Given the description of an element on the screen output the (x, y) to click on. 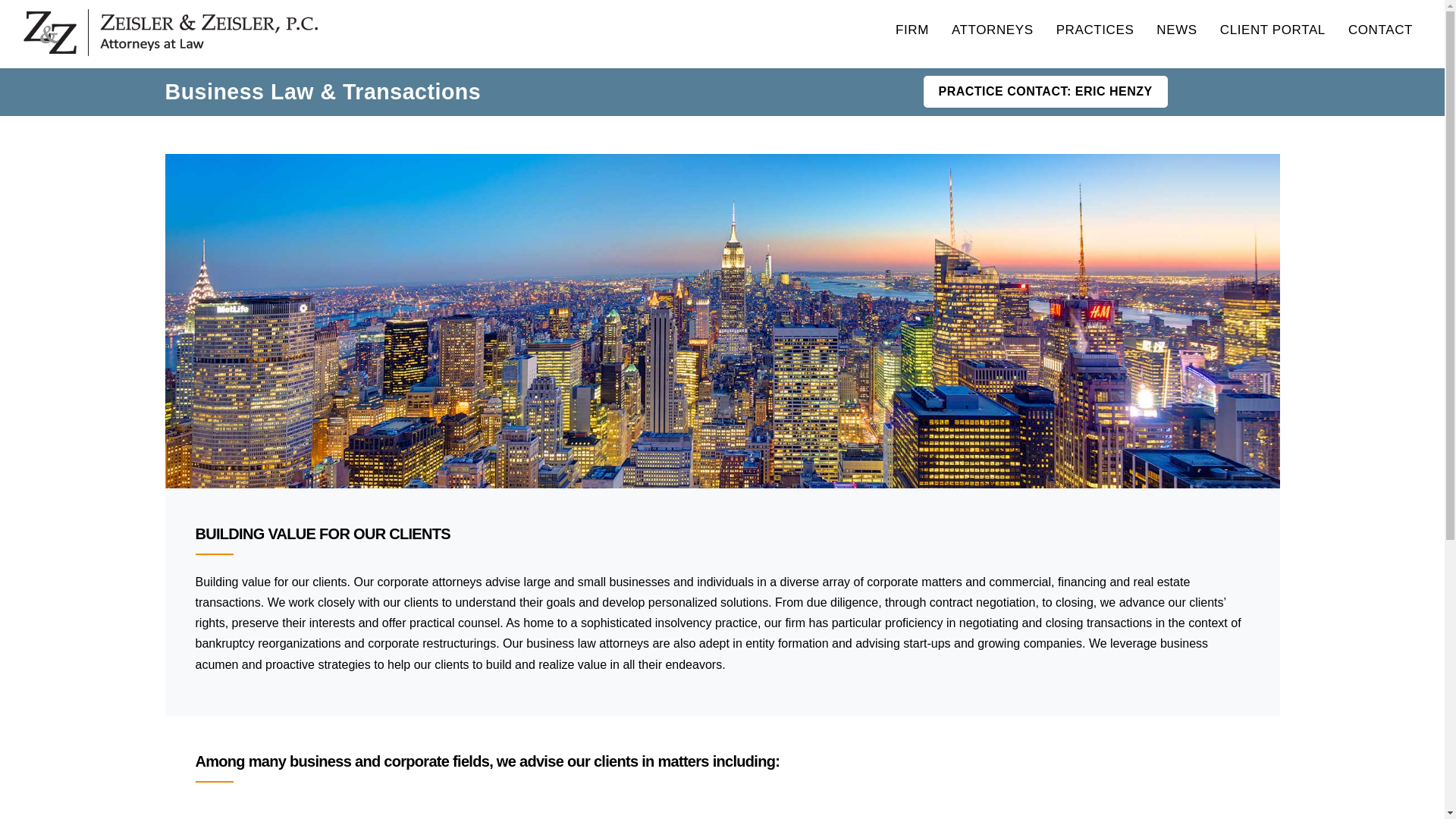
PRACTICES (1094, 30)
CONTACT (1380, 30)
FIRM (911, 30)
CLIENT PORTAL (1273, 30)
ATTORNEYS (992, 30)
PRACTICE CONTACT: ERIC HENZY (1045, 91)
NEWS (1176, 30)
